Given the description of an element on the screen output the (x, y) to click on. 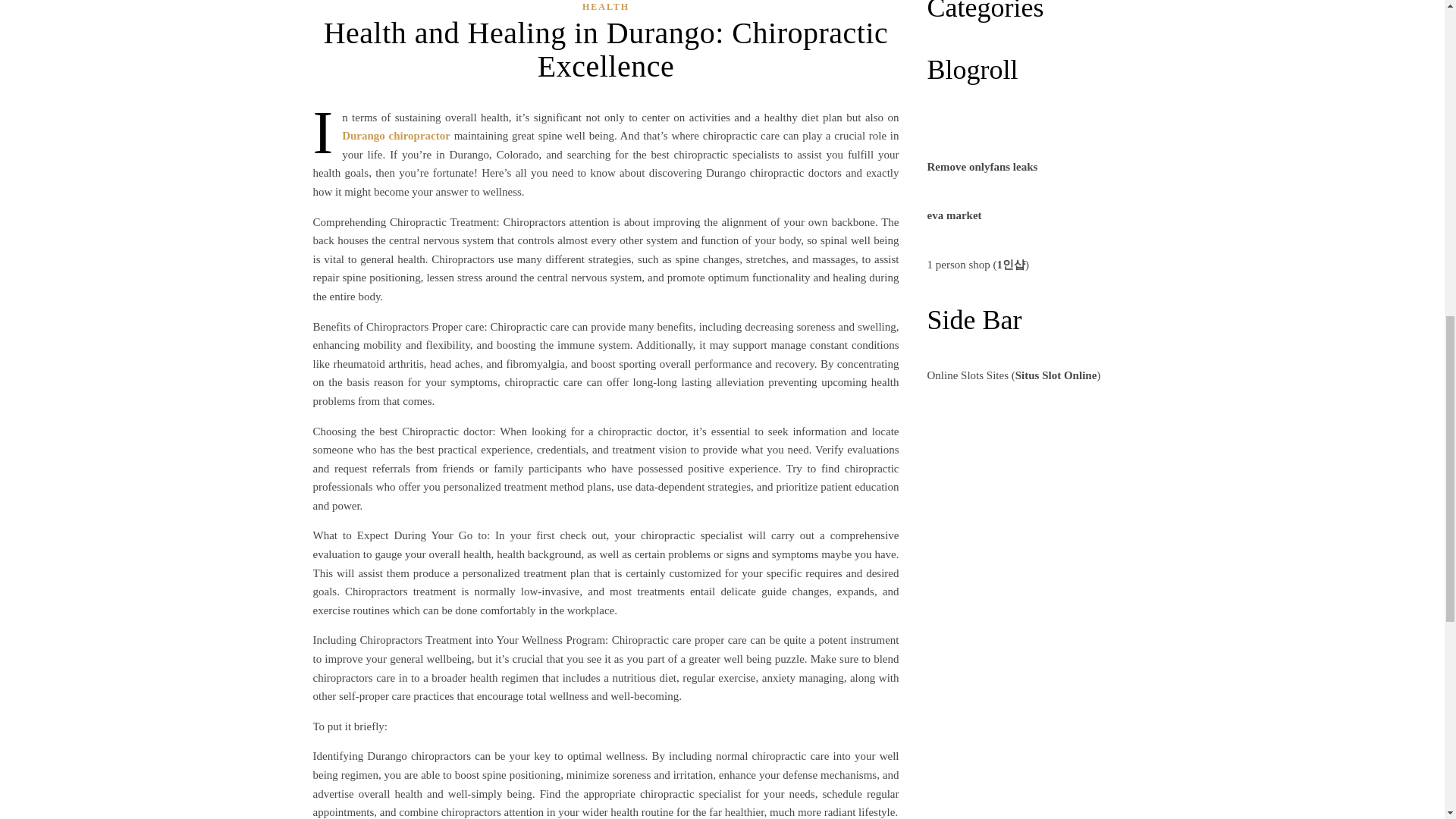
Durango chiropractor (395, 135)
HEALTH (605, 8)
Situs Slot Online (1055, 375)
Remove onlyfans leaks (981, 166)
eva market (953, 215)
